Given the description of an element on the screen output the (x, y) to click on. 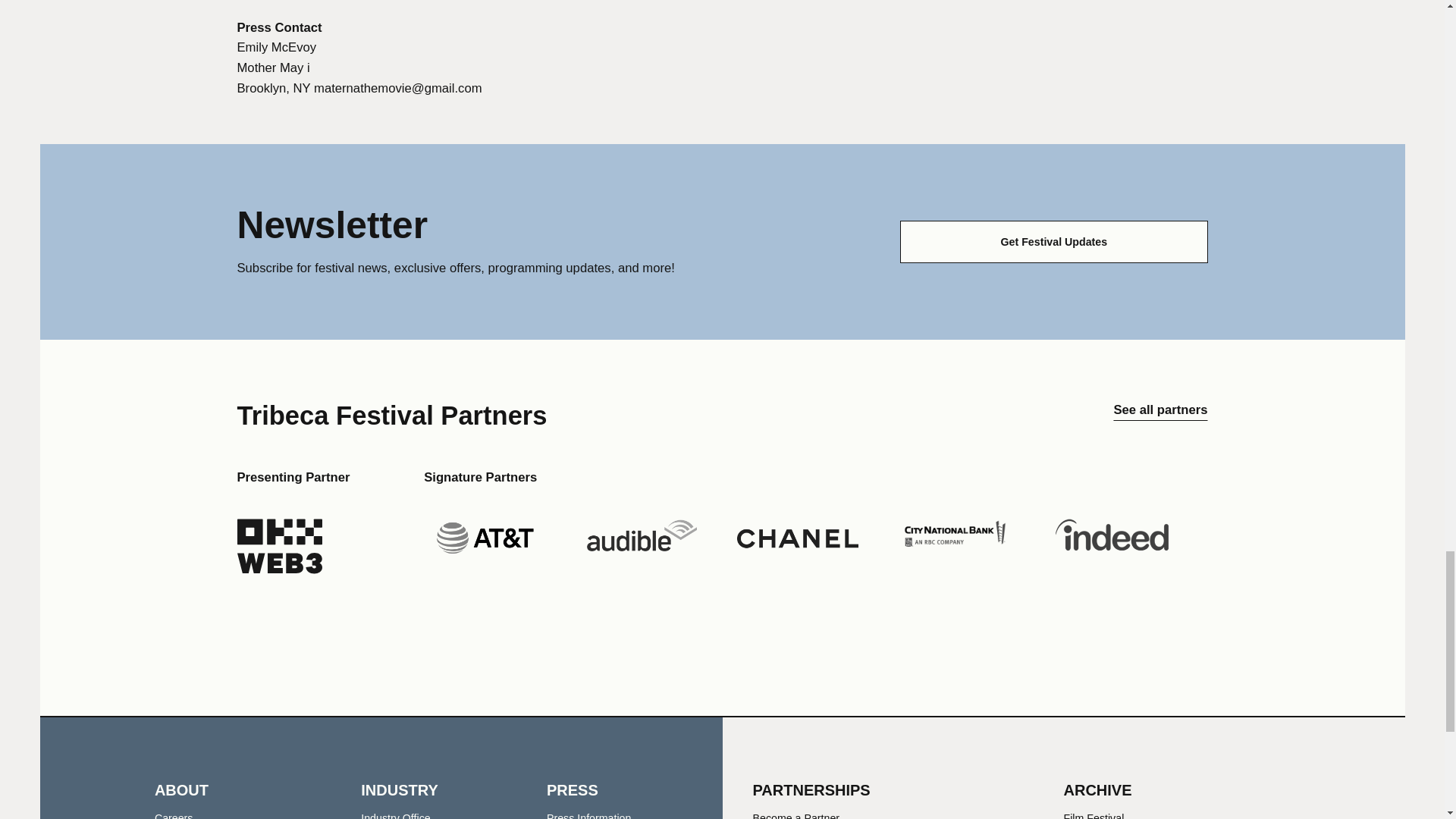
Get Festival Updates (1053, 241)
Careers (173, 815)
See all partners (1160, 415)
